Given the description of an element on the screen output the (x, y) to click on. 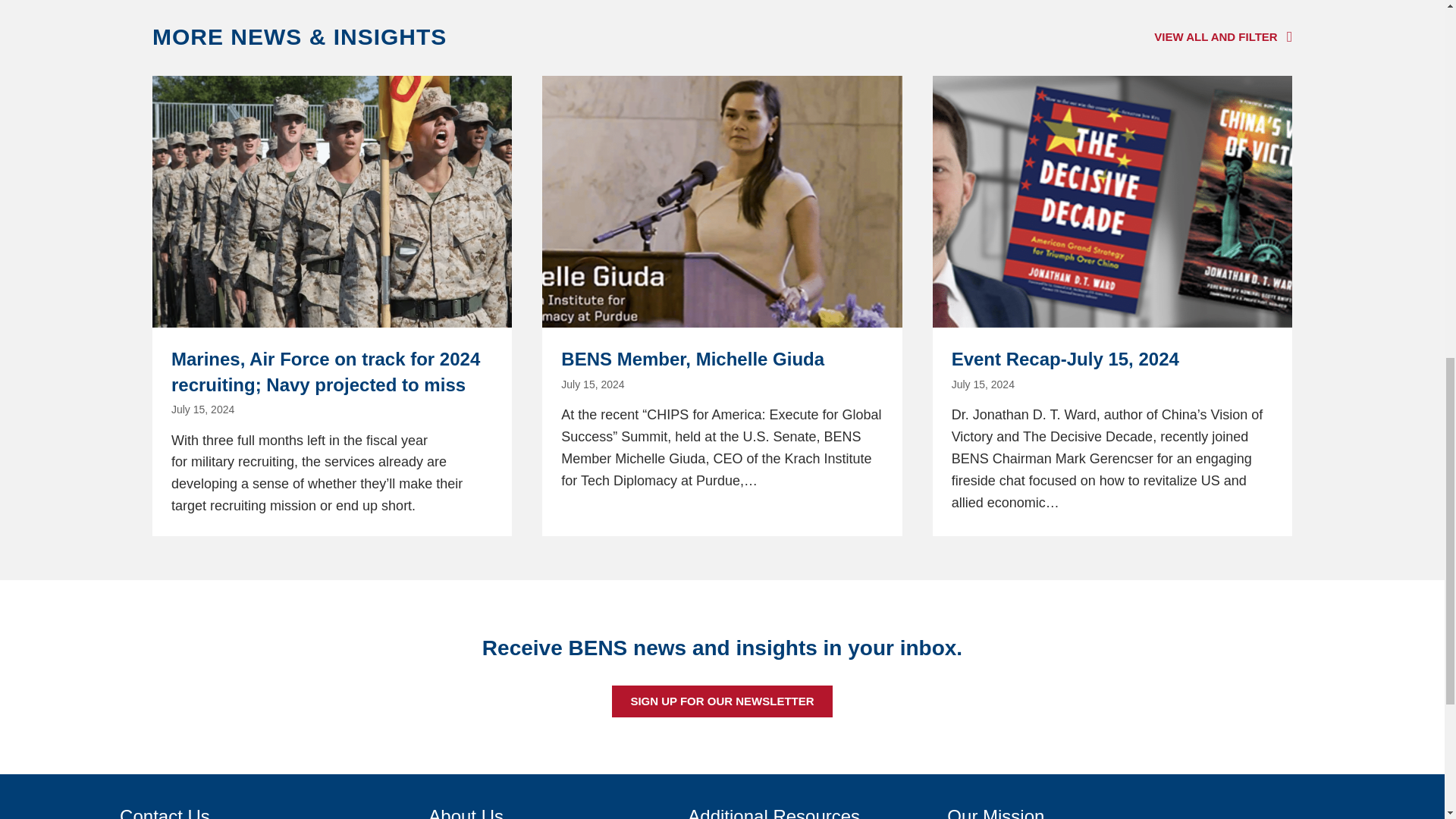
Our Mission (995, 812)
Contact Us (164, 812)
About Us (465, 812)
